Given the description of an element on the screen output the (x, y) to click on. 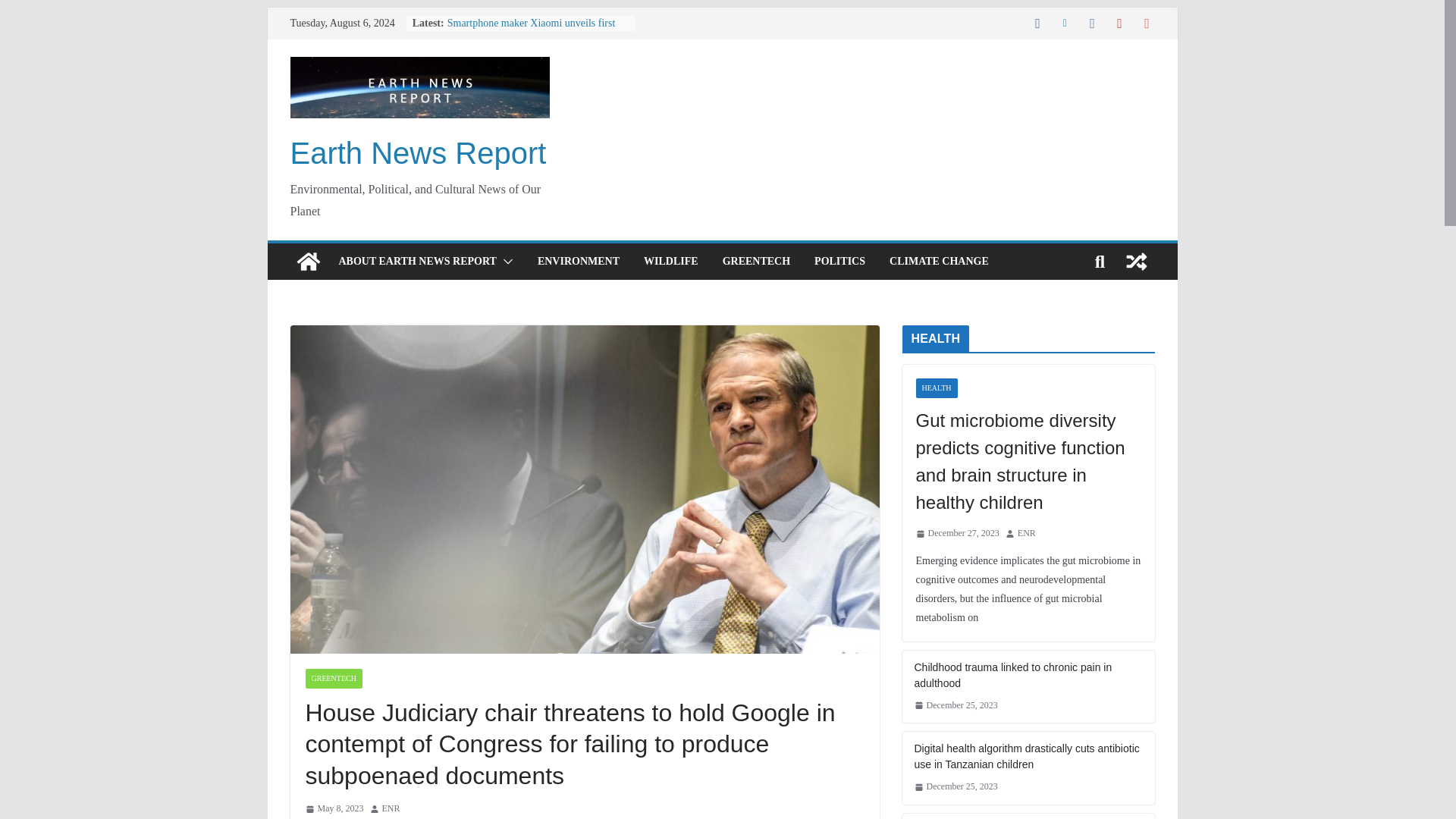
WILDLIFE (670, 260)
POLITICS (838, 260)
GREENTECH (756, 260)
GREENTECH (332, 678)
Earth News Report (417, 152)
Earth News Report (417, 152)
ABOUT EARTH NEWS REPORT (416, 260)
View a random post (1136, 261)
